Given the description of an element on the screen output the (x, y) to click on. 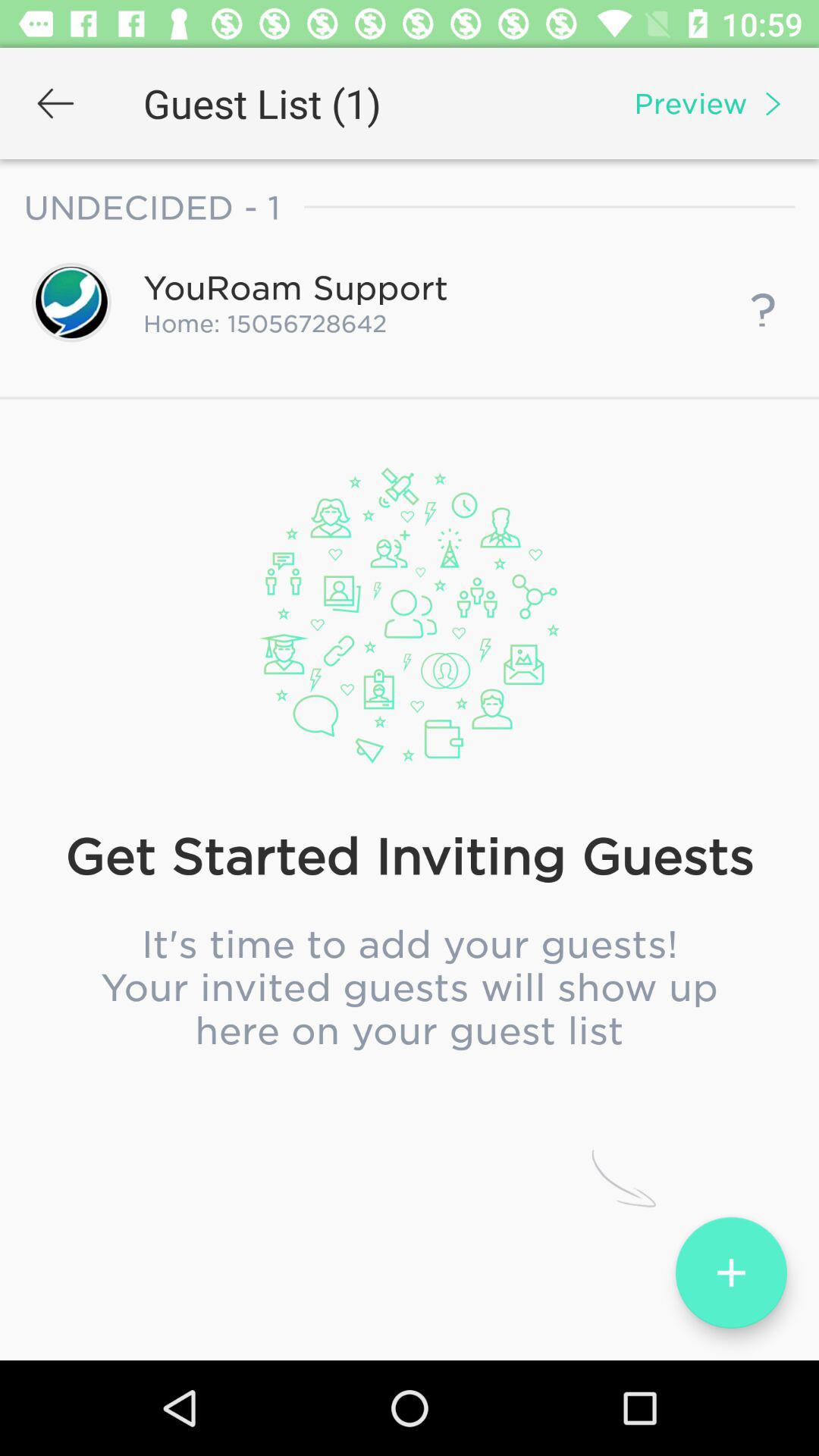
add more (731, 1272)
